Given the description of an element on the screen output the (x, y) to click on. 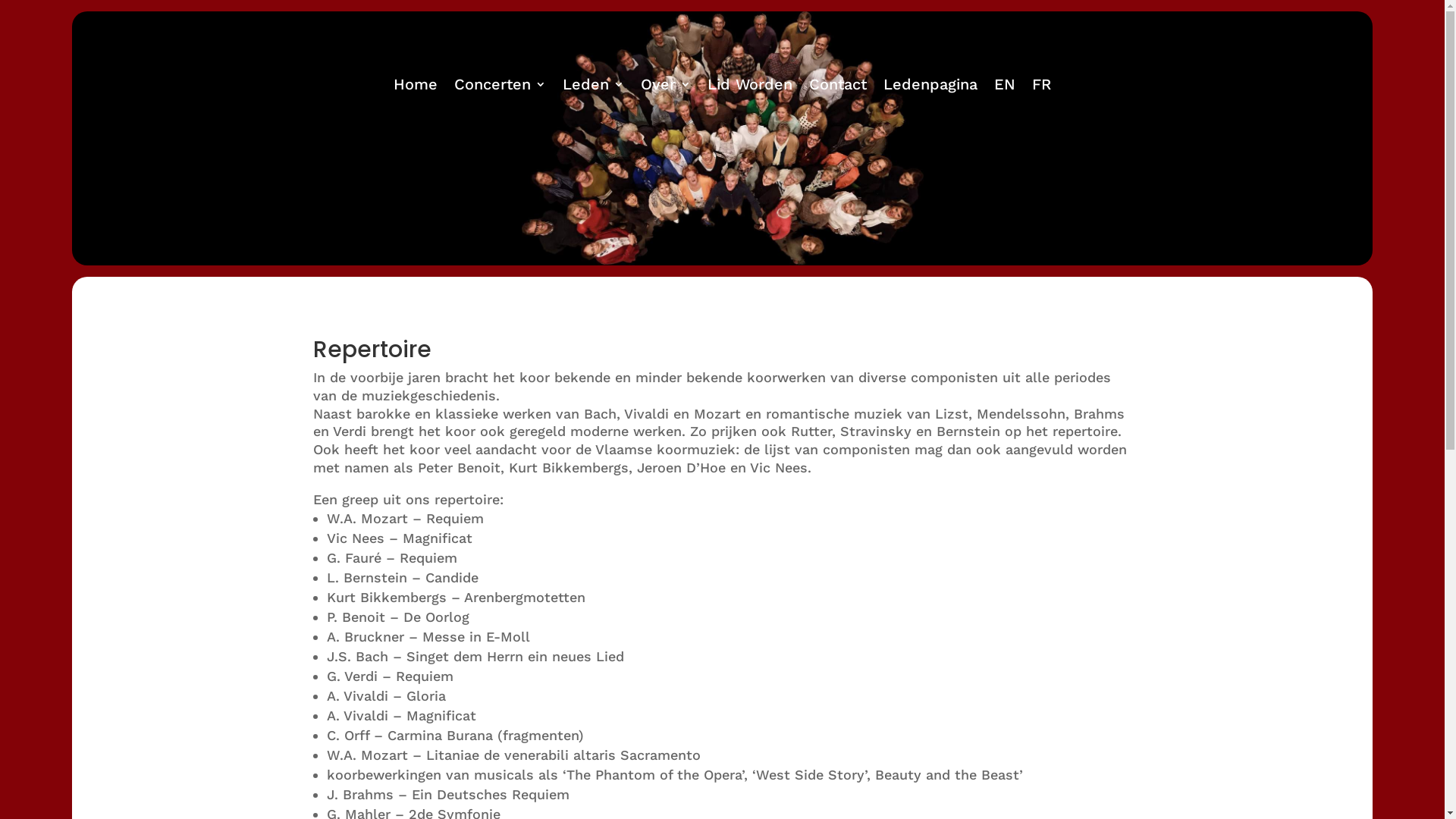
Lid Worden Element type: text (749, 86)
FR Element type: text (1041, 86)
EN Element type: text (1004, 86)
Home Element type: text (415, 86)
Contact Element type: text (837, 86)
Leden Element type: text (593, 86)
Over Element type: text (665, 86)
Concerten Element type: text (500, 86)
Ledenpagina Element type: text (930, 86)
